Given the description of an element on the screen output the (x, y) to click on. 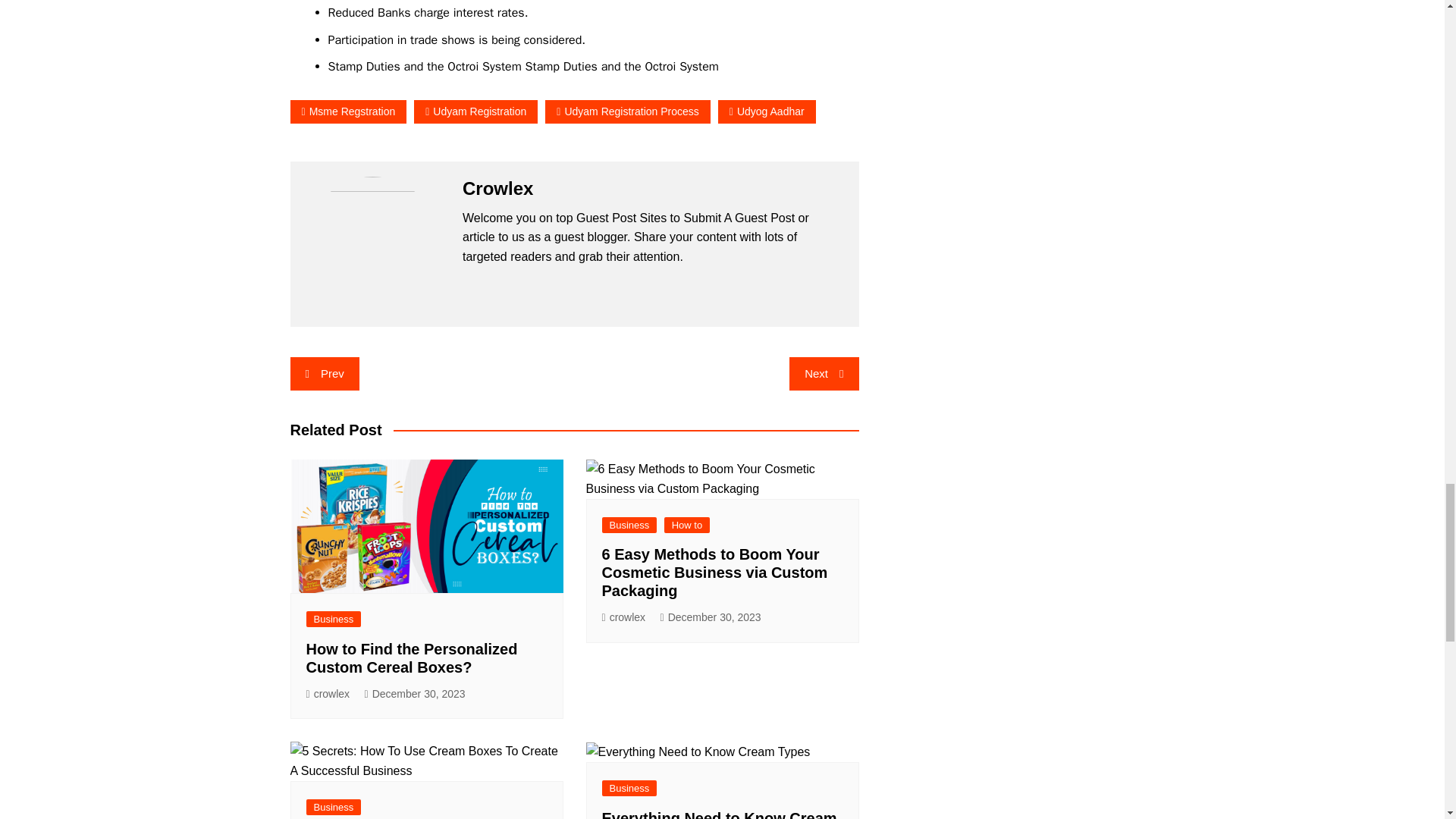
Msme Regstration (347, 111)
Udyam Registration (475, 111)
Udyam Registration Process (627, 111)
